Given the description of an element on the screen output the (x, y) to click on. 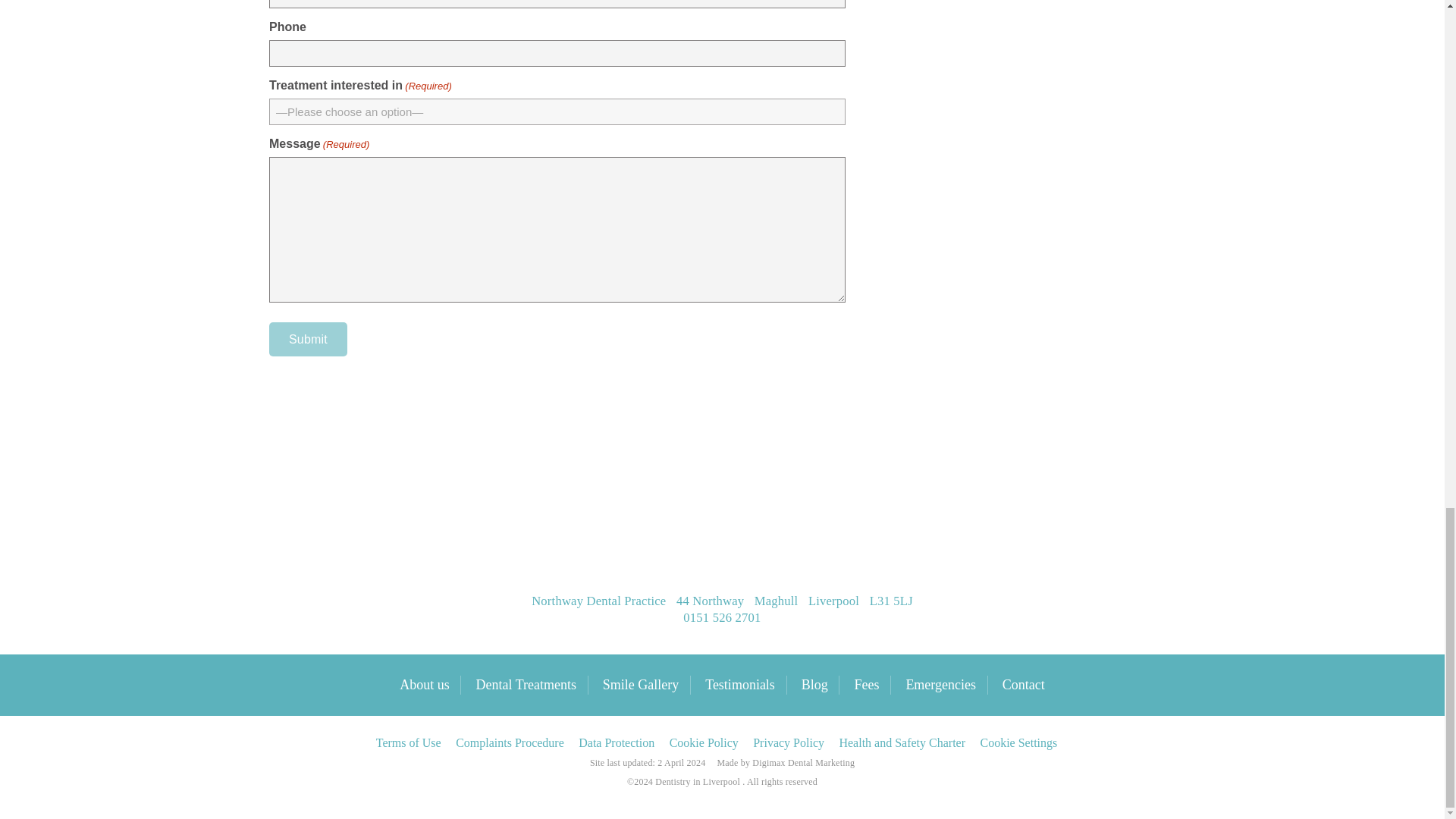
Submit (308, 339)
